Given the description of an element on the screen output the (x, y) to click on. 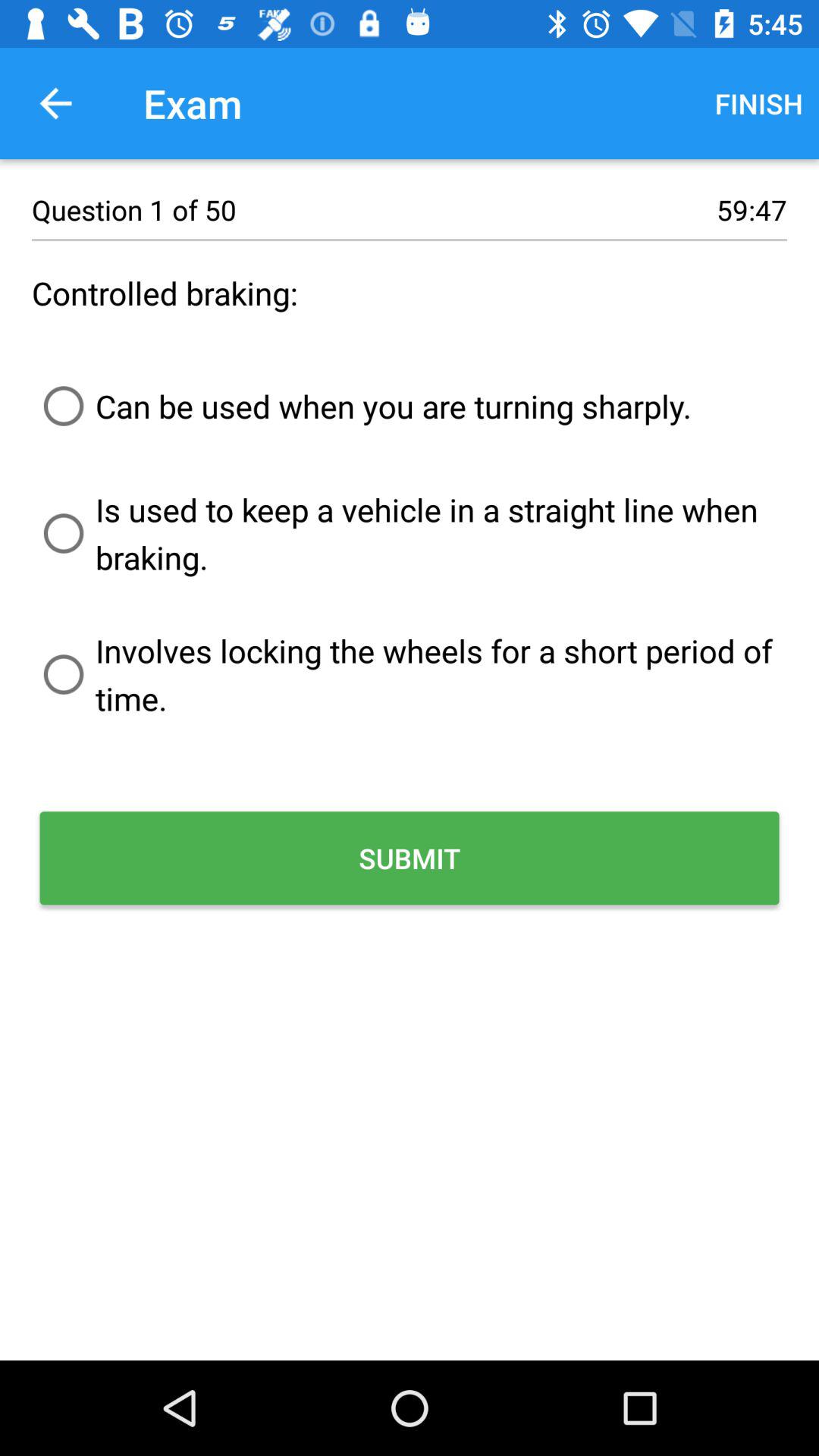
turn off the finish item (758, 103)
